Given the description of an element on the screen output the (x, y) to click on. 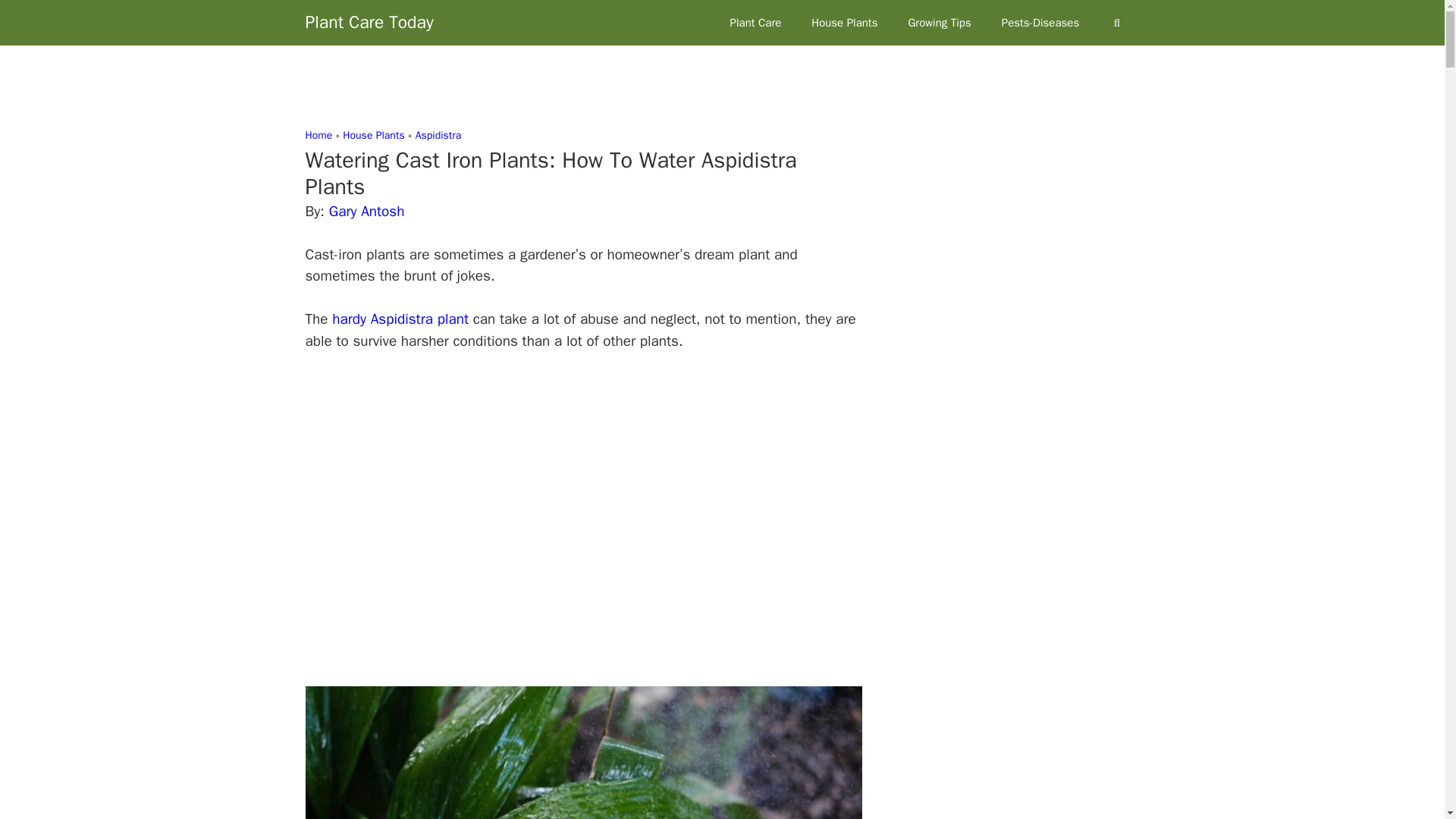
Gary Antosh (366, 211)
Plant Care (755, 22)
Home (317, 134)
Growing Tips (938, 22)
Aspidistra (437, 134)
Pests-Diseases (1040, 22)
Plant Care Today (368, 22)
hardy Aspidistra plant (399, 319)
House Plants (373, 134)
House Plants (844, 22)
